Given the description of an element on the screen output the (x, y) to click on. 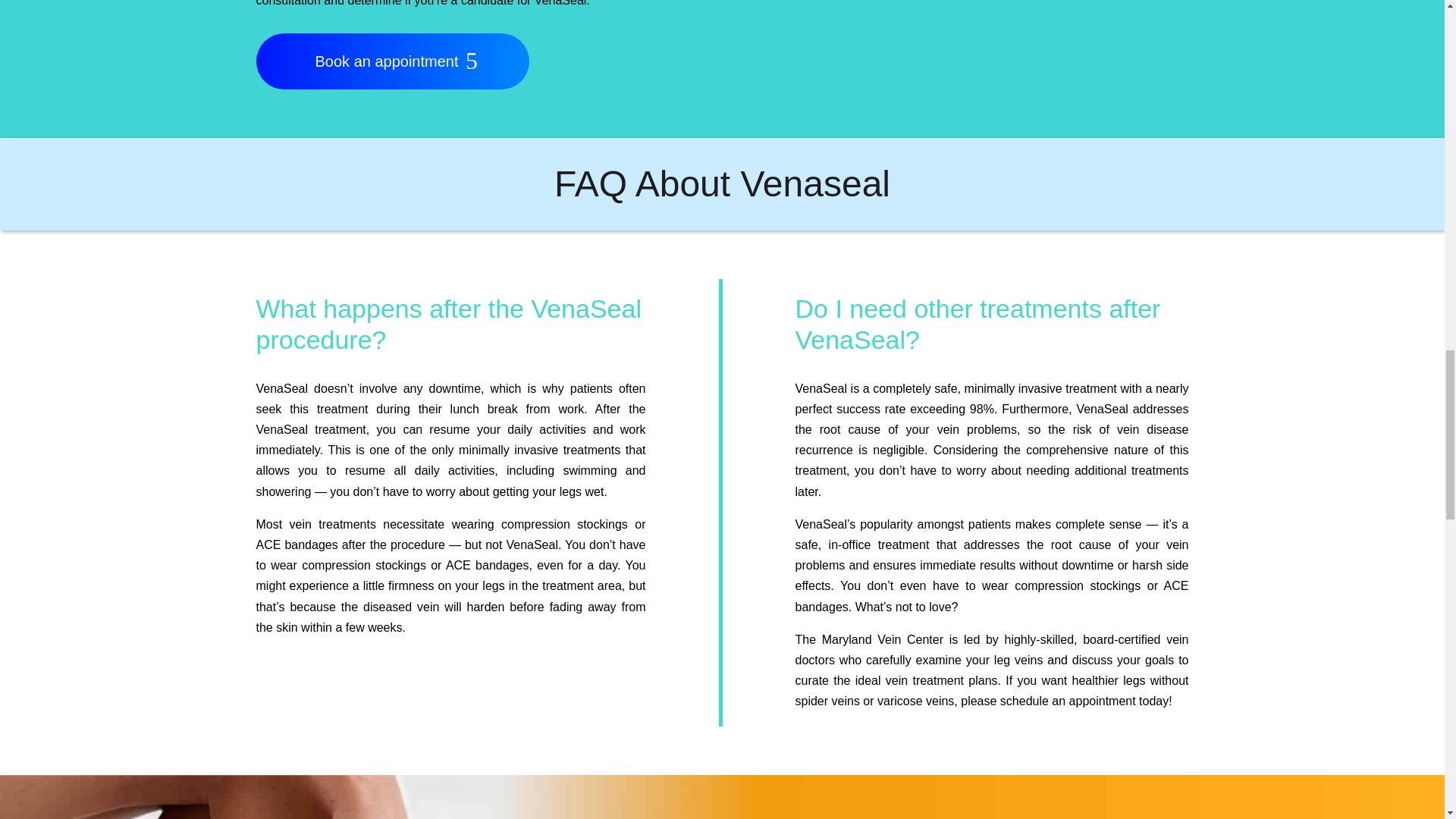
Book an appointment (392, 61)
Before-After-SpiderVeins-Patient (968, 11)
